Given the description of an element on the screen output the (x, y) to click on. 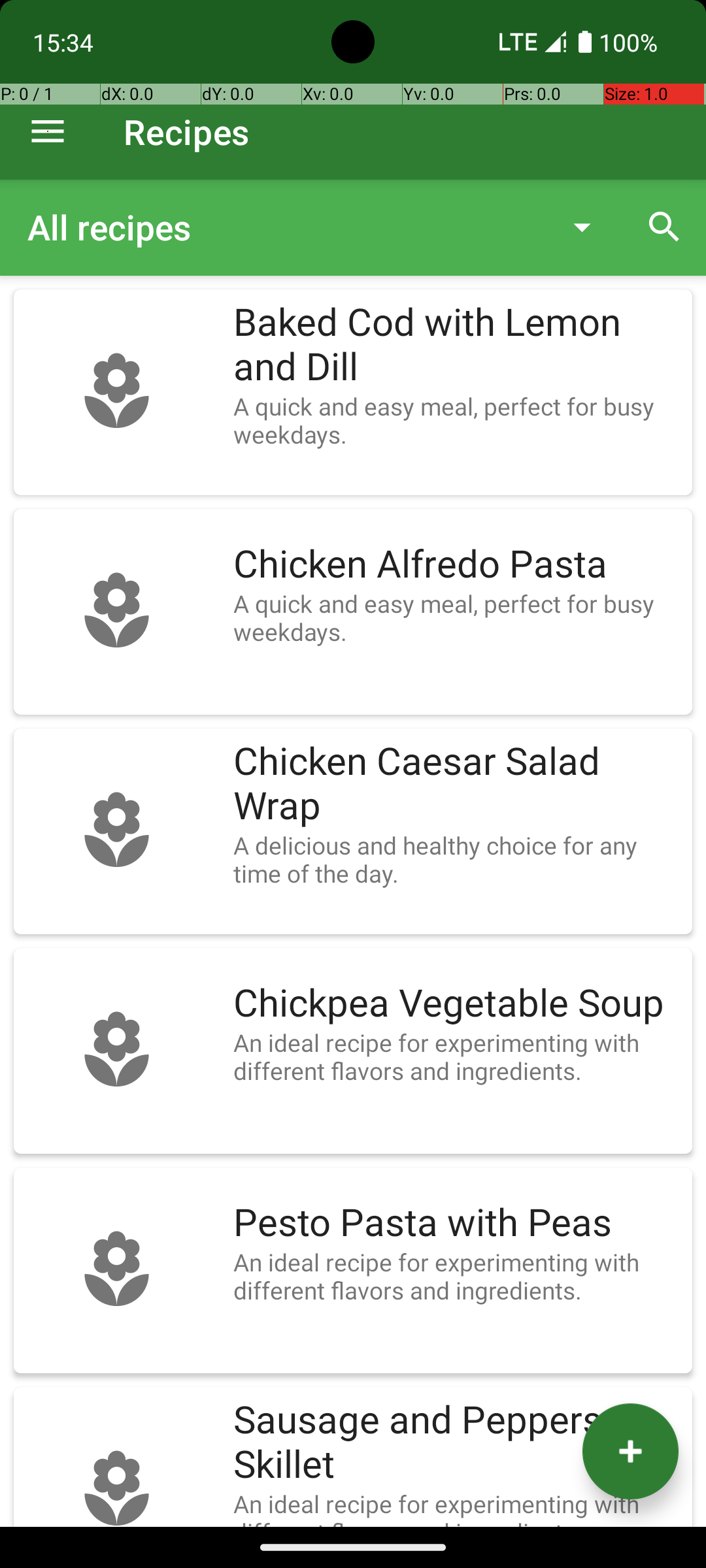
Sausage and Peppers Skillet Element type: android.widget.TextView (455, 1442)
